Given the description of an element on the screen output the (x, y) to click on. 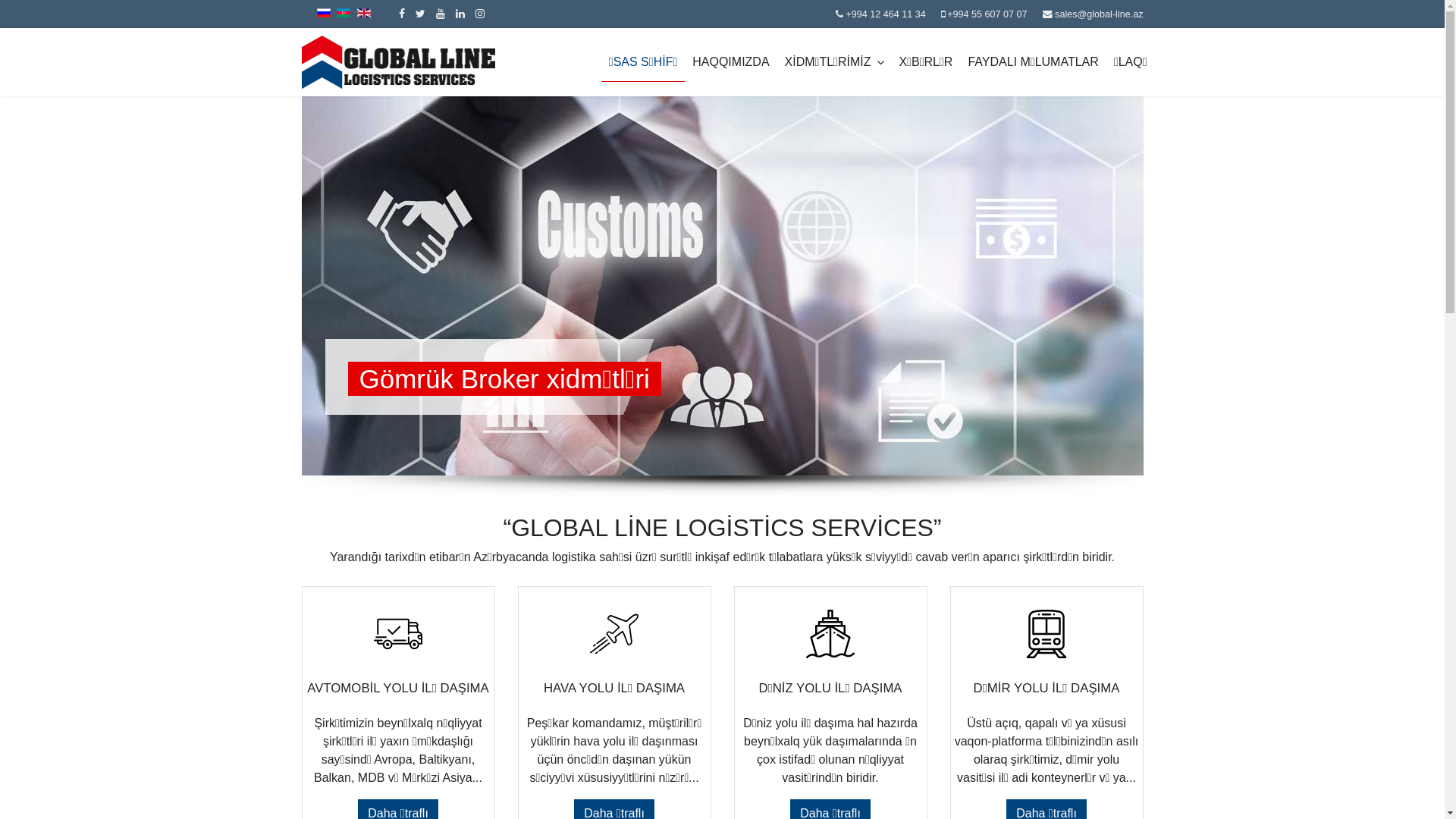
+994 55 607 07 07 Element type: text (986, 14)
Russian (Russia) Element type: hover (323, 12)
English (United Kingdom) Element type: hover (363, 12)
Azerbaijan (az-AZ) Element type: hover (343, 12)
+994 12 464 11 34 Element type: text (885, 14)
sales@global-line.az Element type: text (1098, 14)
HAQQIMIZDA Element type: text (730, 62)
